Given the description of an element on the screen output the (x, y) to click on. 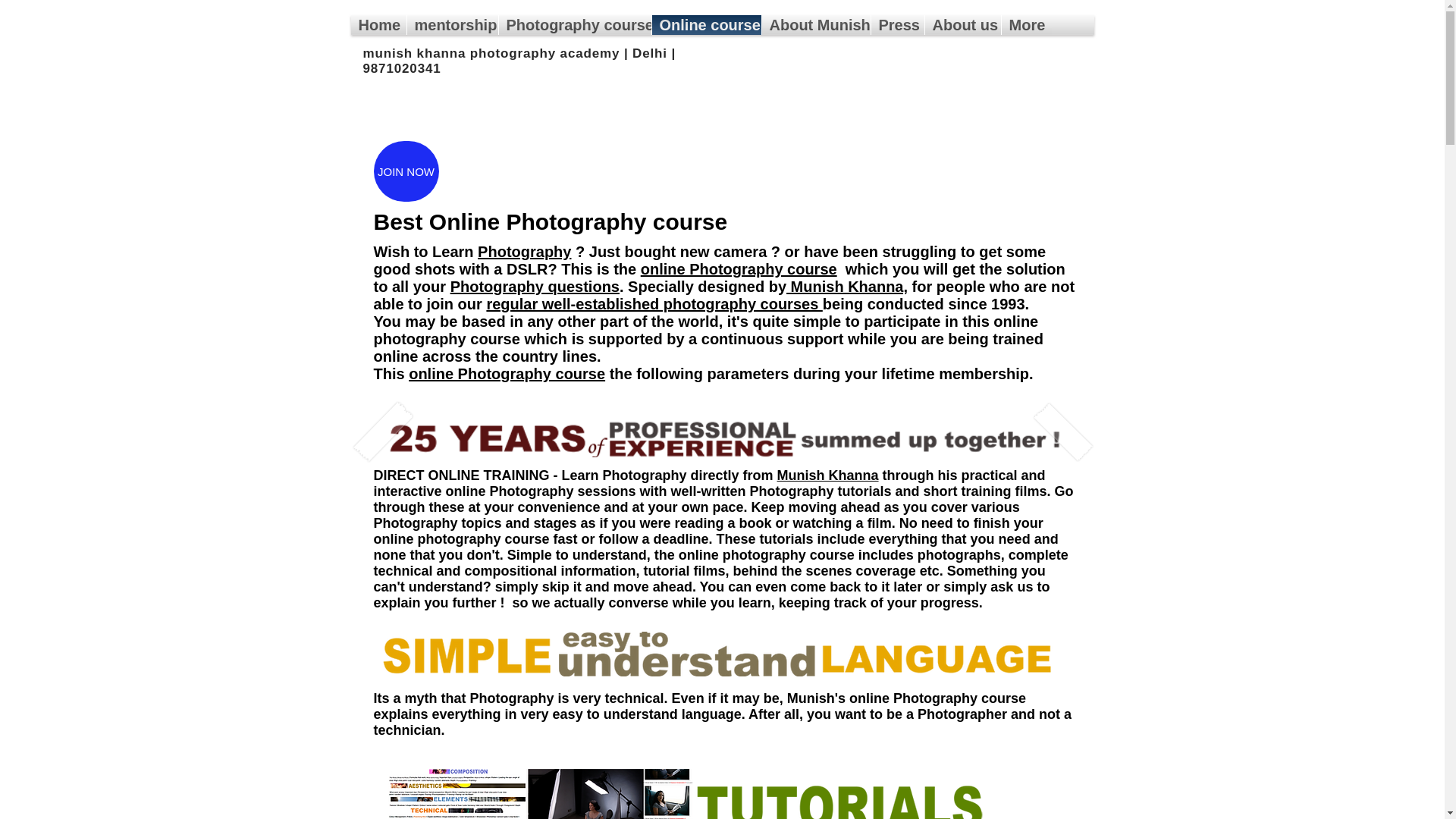
Munish Khanna (828, 475)
Munish Khanna, (846, 286)
online Photography course (738, 269)
About us (962, 25)
online Photography course (507, 373)
Press (896, 25)
mentorship (451, 25)
Photography (523, 251)
Photography course (574, 25)
Best online Photography course (721, 437)
